Given the description of an element on the screen output the (x, y) to click on. 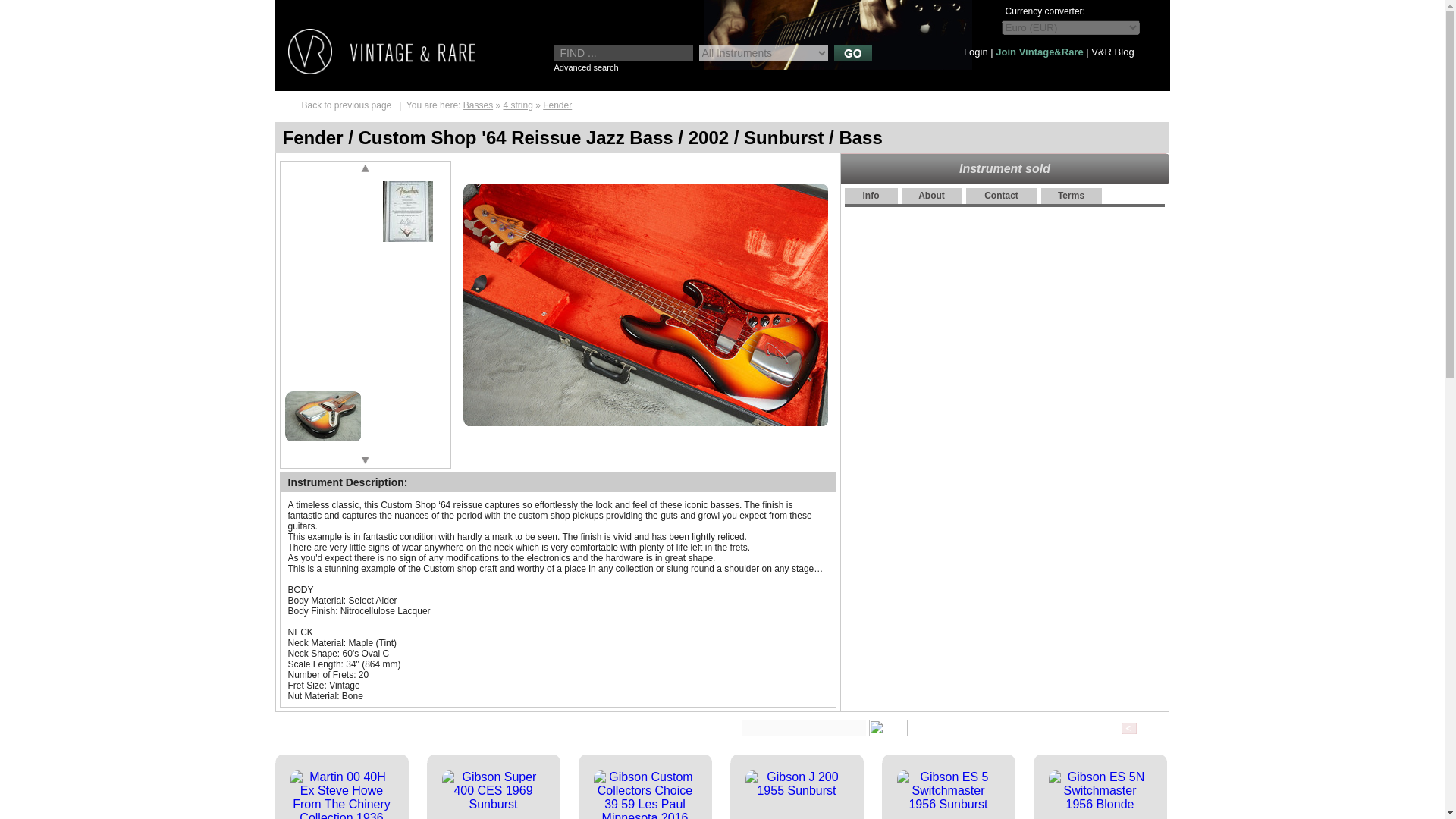
Back to previous page (346, 104)
fender-Custom Shop '64 reissue Jazz Bass-2002-Sunburst (322, 347)
fender-Custom Shop '64 reissue Jazz Bass-2002-Sunburst (406, 415)
Login (975, 51)
fender-Custom Shop '64 reissue Jazz Bass-2002-Sunburst (322, 415)
fender-Custom Shop '64 reissue Jazz Bass-2002-Sunburst (322, 279)
1 (322, 210)
Fender (557, 104)
fender-Custom Shop '64 reissue Jazz Bass-2002-Sunburst (406, 279)
fender (557, 104)
